Given the description of an element on the screen output the (x, y) to click on. 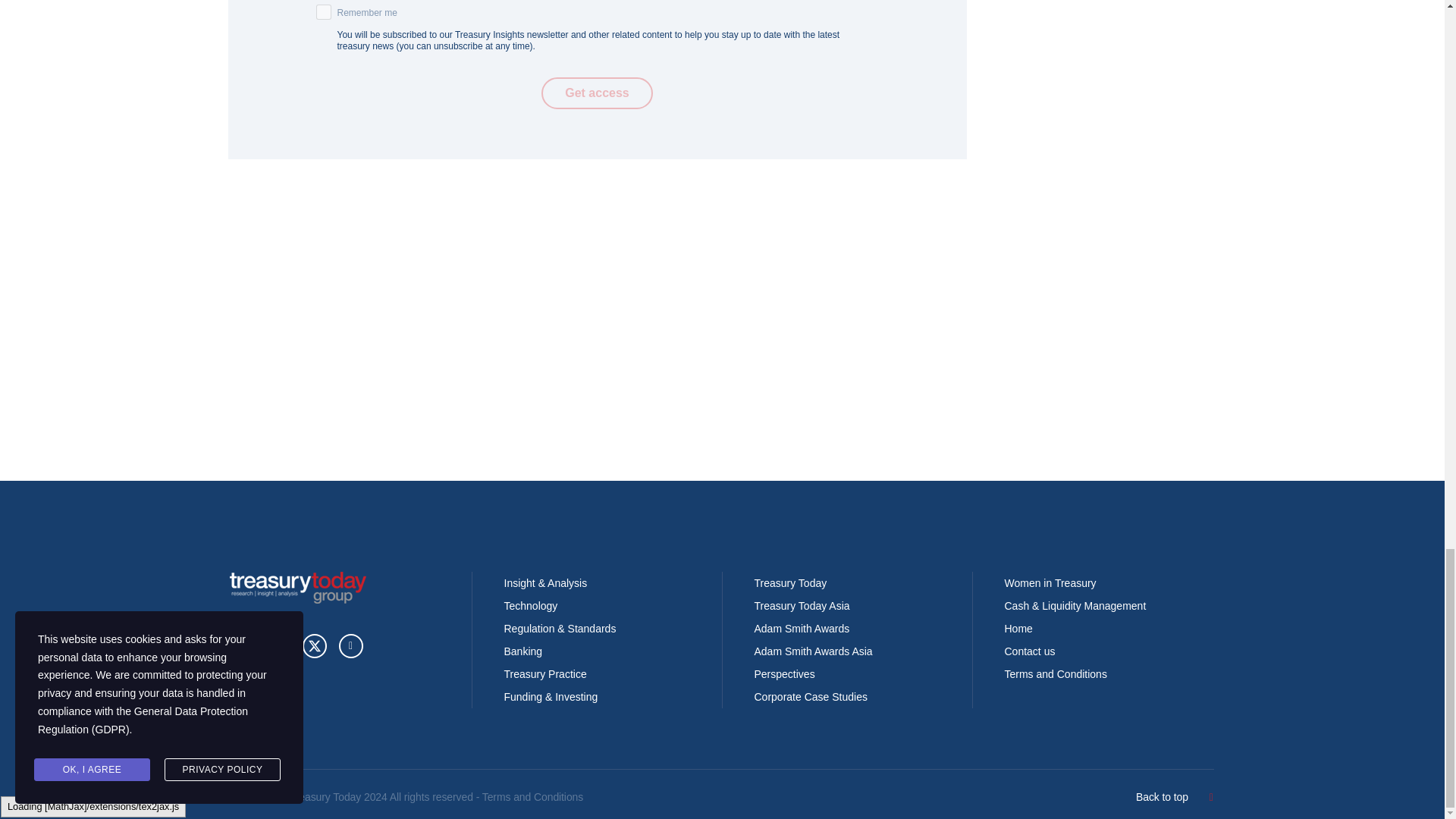
on (322, 11)
3rd party ad content (596, 381)
